Given the description of an element on the screen output the (x, y) to click on. 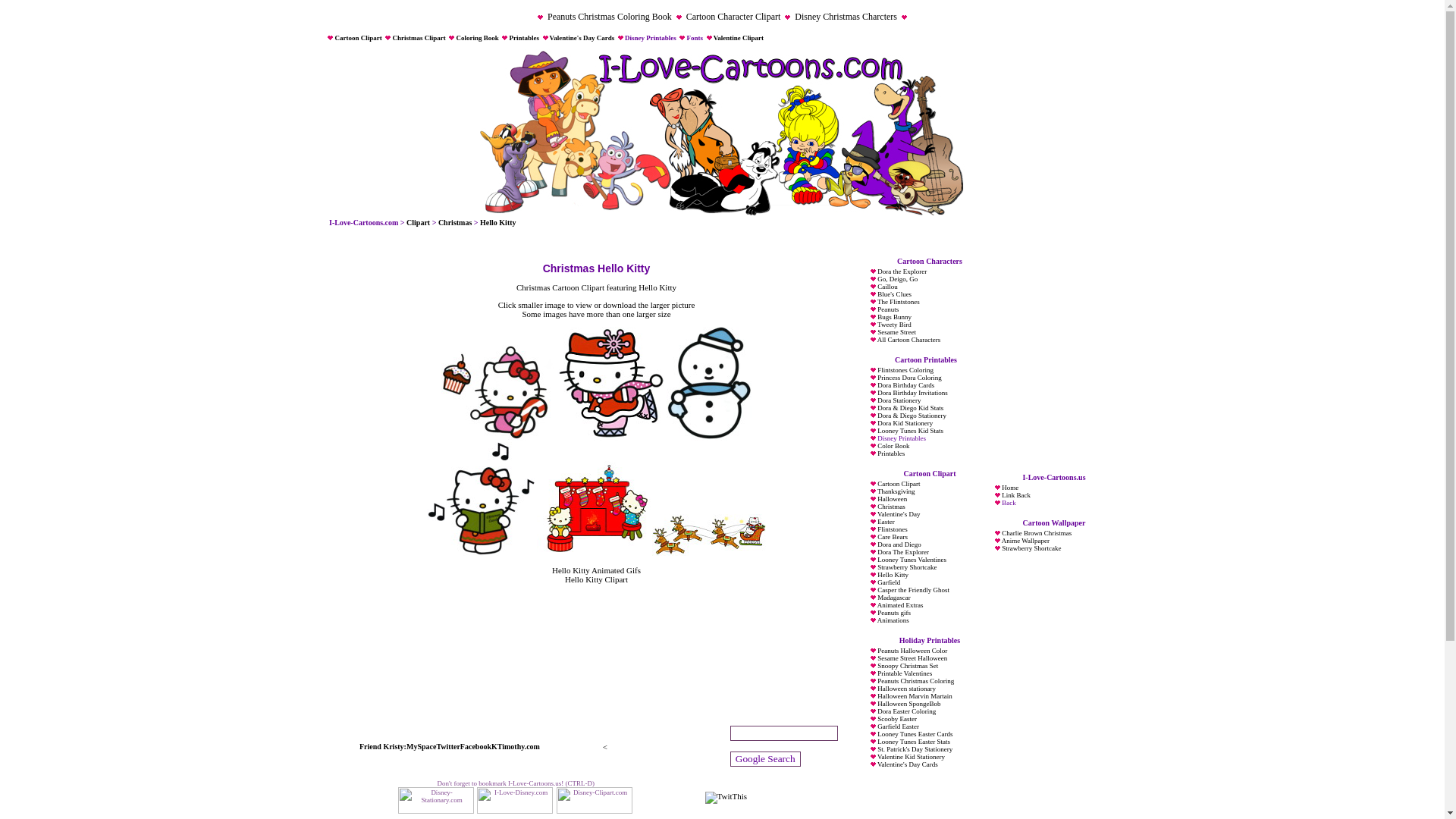
Looney Tunes Kid Stats (910, 430)
Christmas (454, 222)
Christmas (454, 222)
Valentine's Day Cards (582, 37)
Cartoon Characters Clipart (417, 222)
Go, Deigo, Go (897, 278)
Dora Birthday Cards (905, 385)
Cartoon Character Clipart (732, 16)
Cartoon Clipart (357, 37)
Dora the Explorer (901, 271)
